Given the description of an element on the screen output the (x, y) to click on. 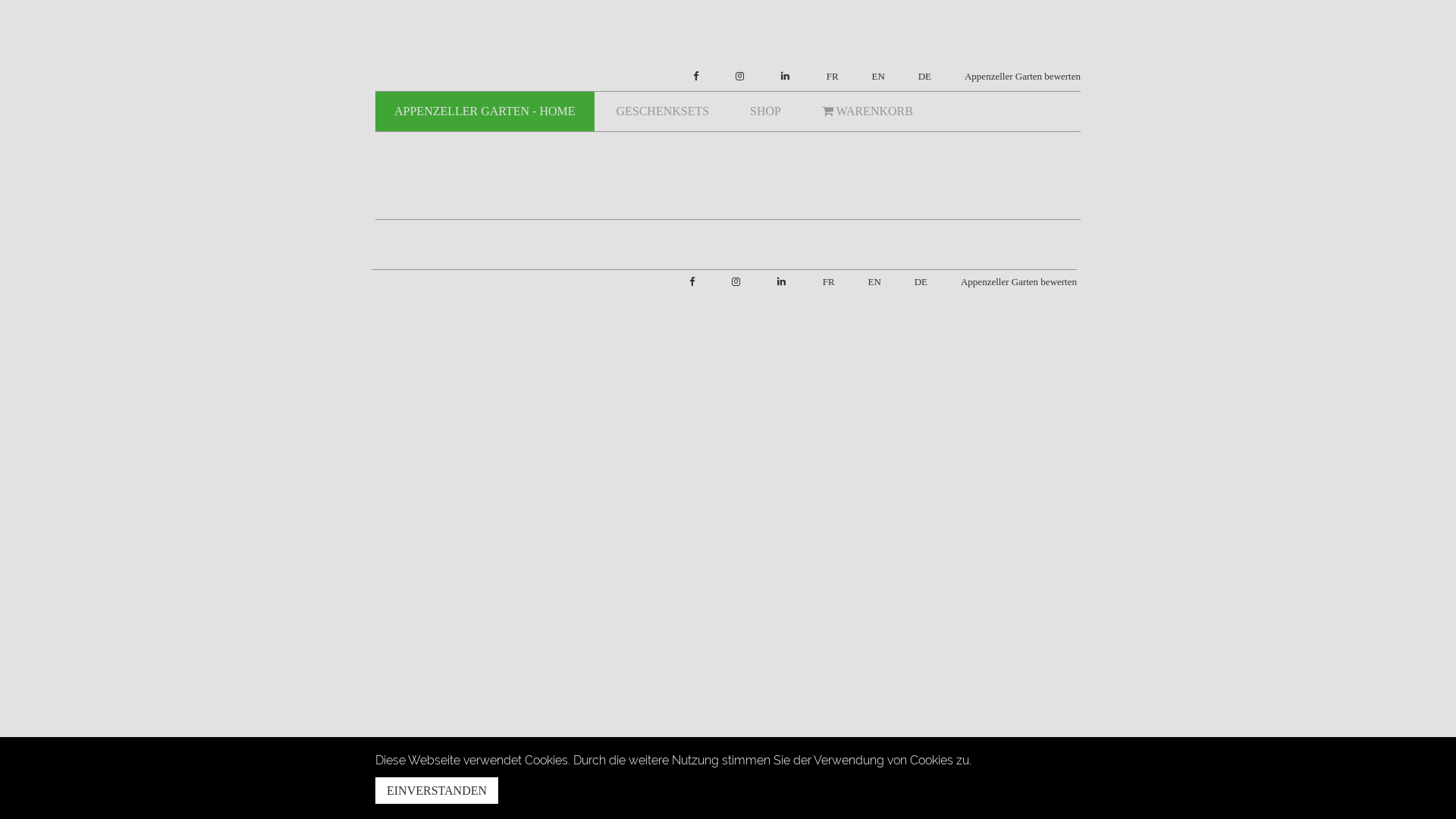
APPENZELLER GARTEN - HOME Element type: text (484, 111)
EN Element type: text (870, 76)
DE Element type: text (917, 76)
WARENKORB Element type: text (867, 111)
SHOP Element type: text (765, 111)
FR Element type: text (820, 282)
FR Element type: text (824, 76)
Appenzeller Garten bewerten Element type: text (1010, 282)
EN Element type: text (866, 282)
DE Element type: text (913, 282)
GESCHENKSETS Element type: text (662, 111)
Appenzeller Garten bewerten Element type: text (1014, 76)
